Given the description of an element on the screen output the (x, y) to click on. 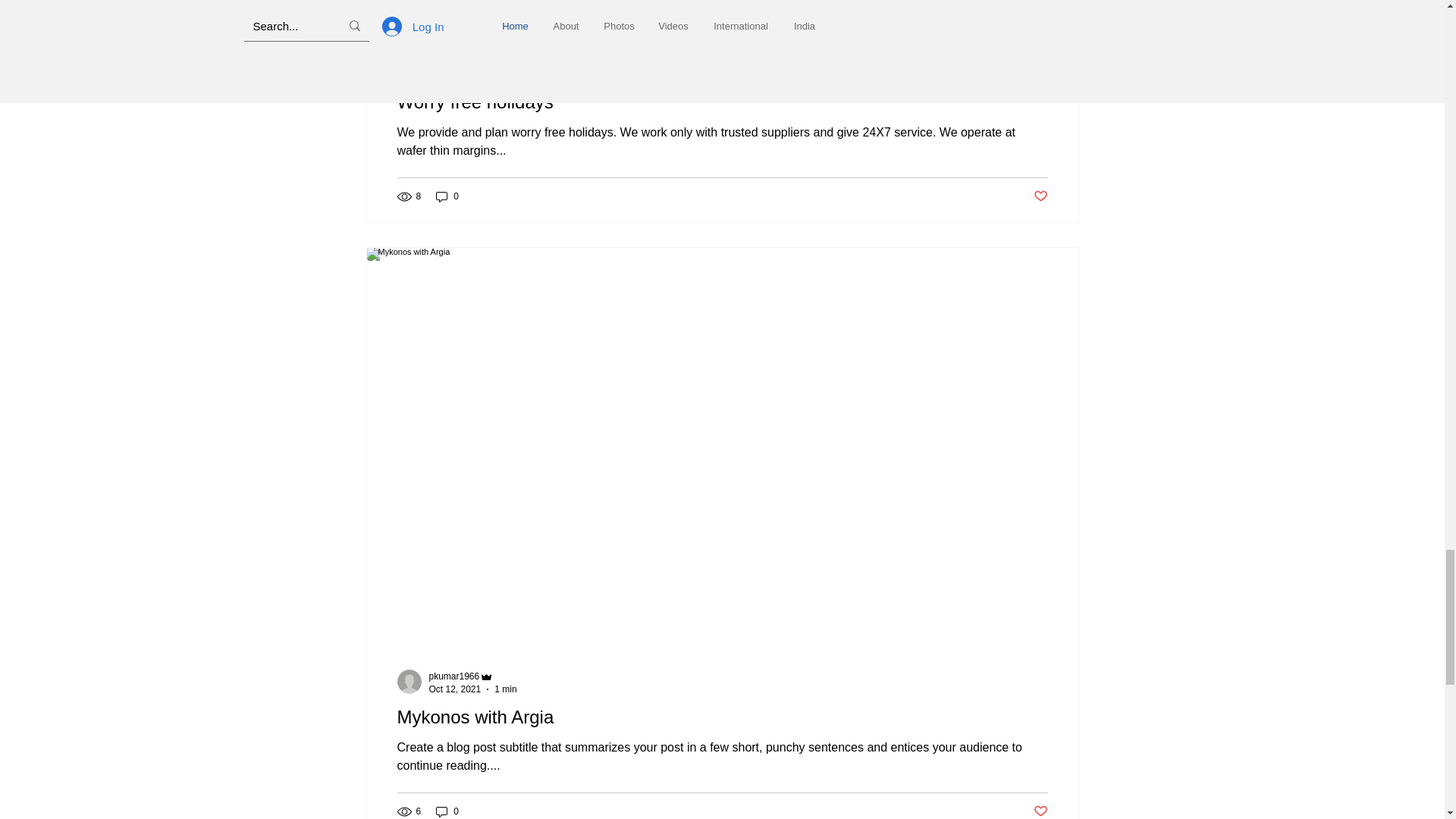
1 min (505, 688)
pkumar1966 (472, 676)
Oct 12, 2021 (455, 688)
pkumar1966 (454, 675)
0 (446, 811)
Jul 8, 2022 (451, 73)
1 min (497, 73)
pkumar1966 (454, 61)
Post not marked as liked (1039, 196)
Worry free holidays (722, 102)
